Given the description of an element on the screen output the (x, y) to click on. 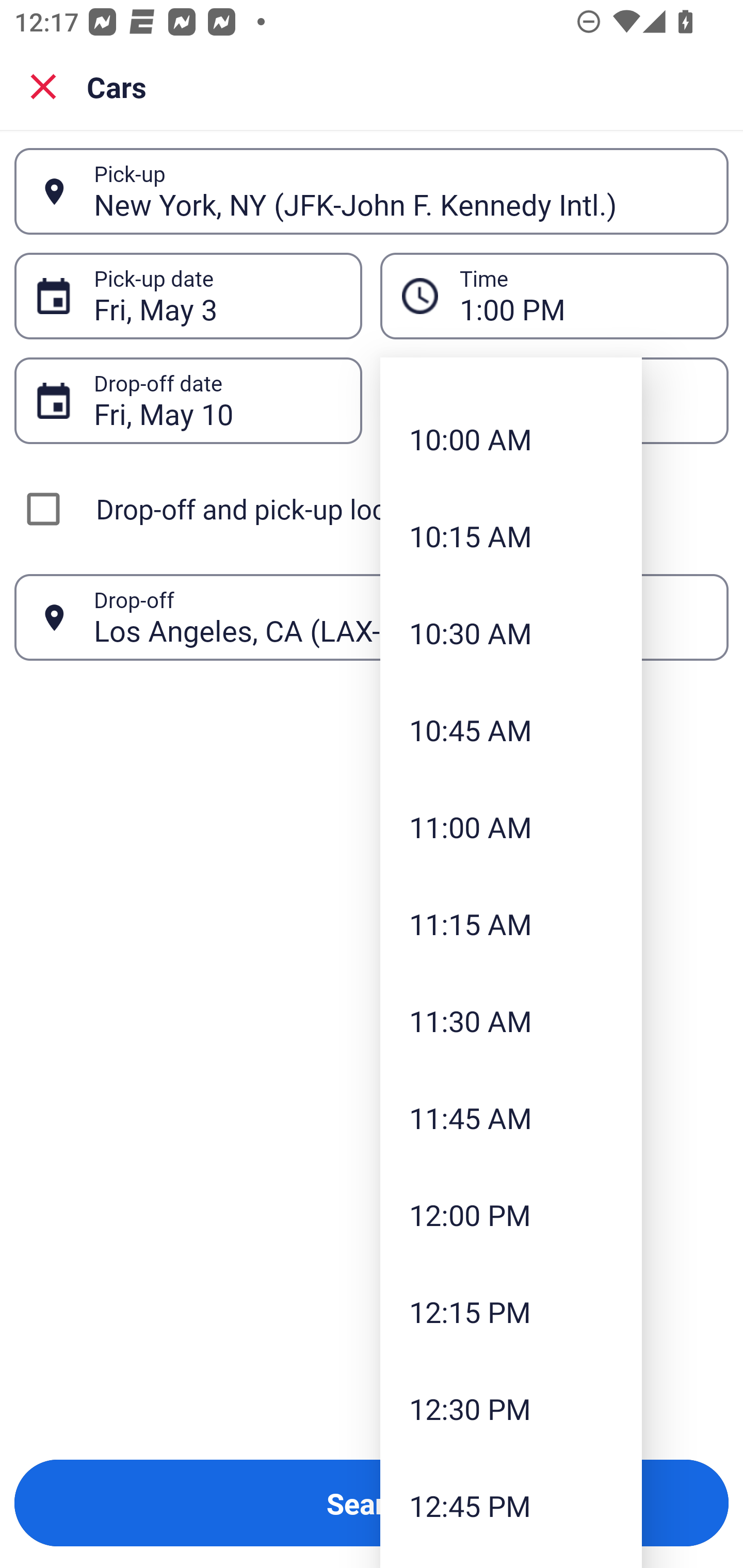
10:00 AM (510, 438)
10:15 AM (510, 535)
10:30 AM (510, 633)
10:45 AM (510, 729)
11:00 AM (510, 825)
11:15 AM (510, 923)
11:30 AM (510, 1020)
11:45 AM (510, 1117)
12:00 PM (510, 1214)
12:15 PM (510, 1311)
12:30 PM (510, 1407)
12:45 PM (510, 1504)
